Given the description of an element on the screen output the (x, y) to click on. 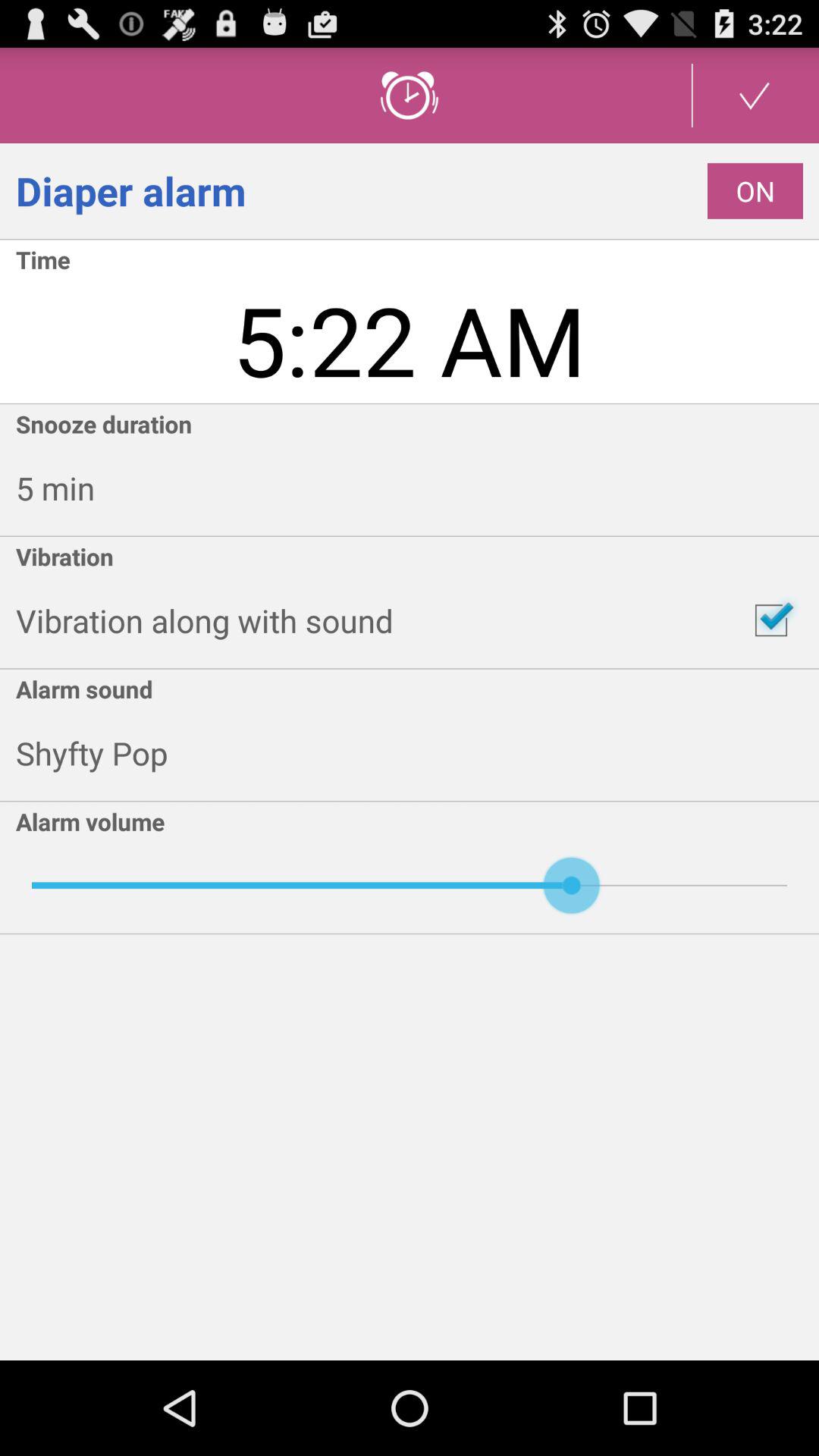
launch the icon next to the diaper alarm (755, 190)
